Given the description of an element on the screen output the (x, y) to click on. 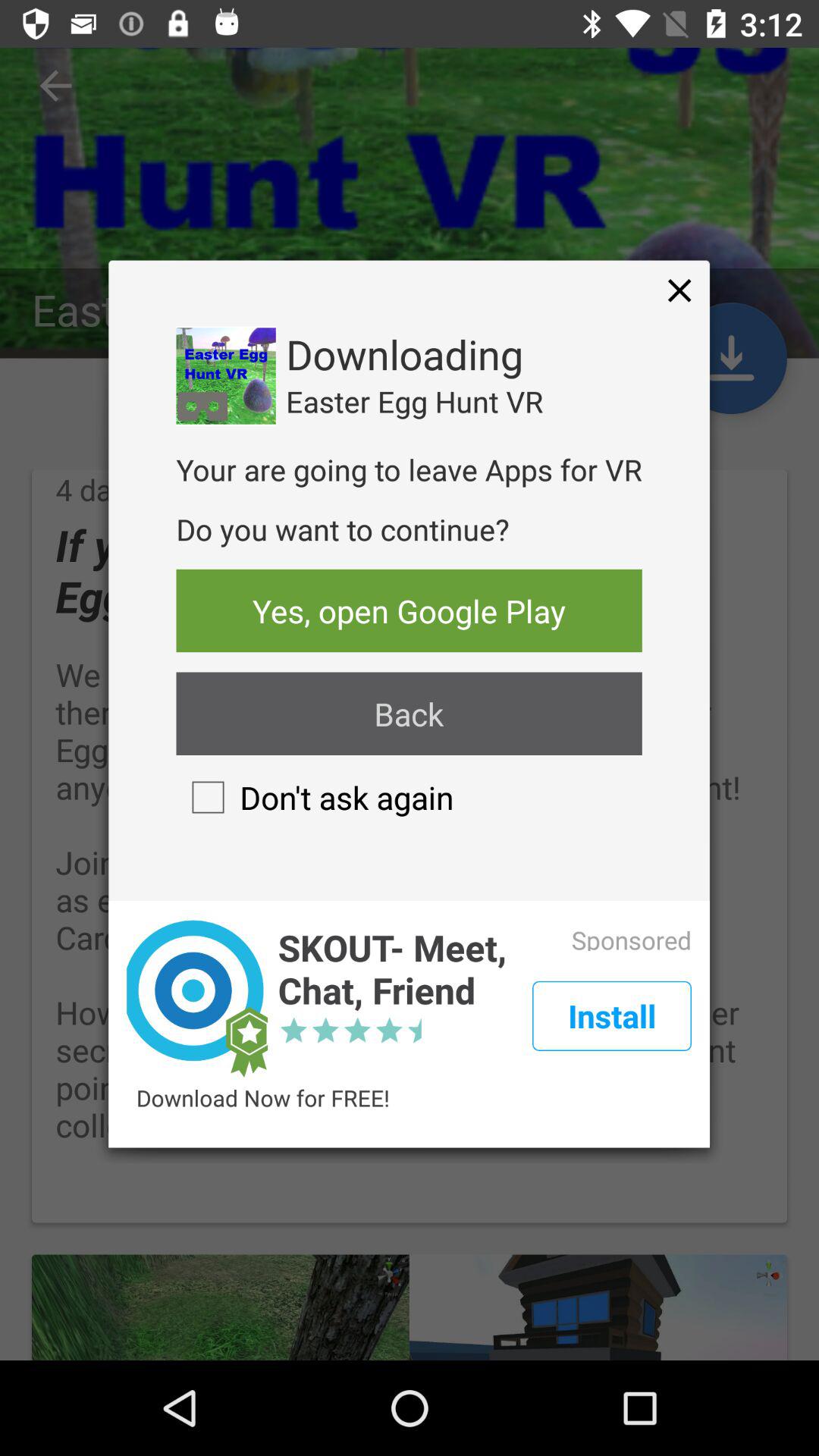
swipe until back icon (409, 713)
